Given the description of an element on the screen output the (x, y) to click on. 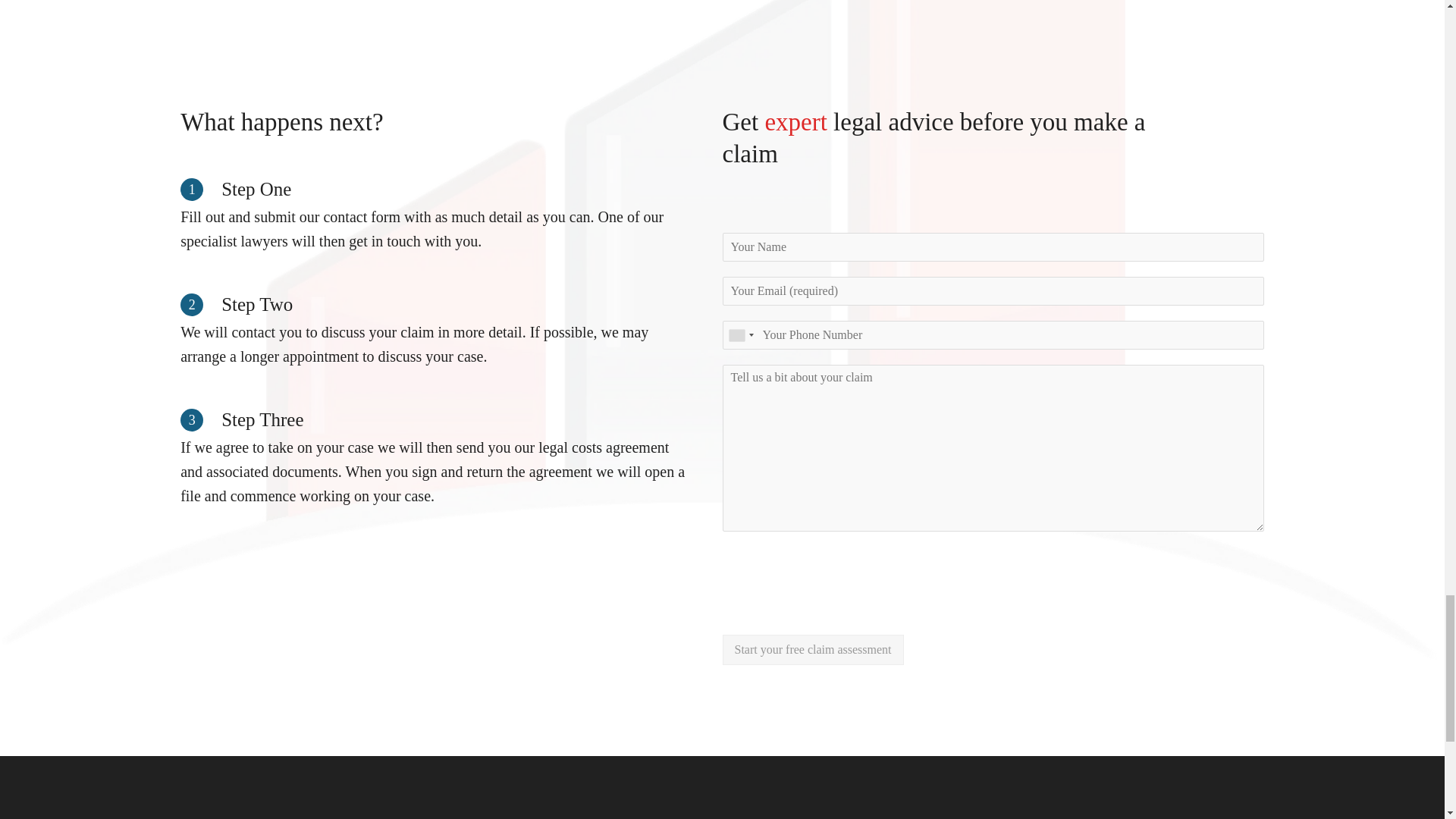
Widget containing checkbox for hCaptcha security challenge (837, 576)
Start your free claim assessment (812, 649)
